Given the description of an element on the screen output the (x, y) to click on. 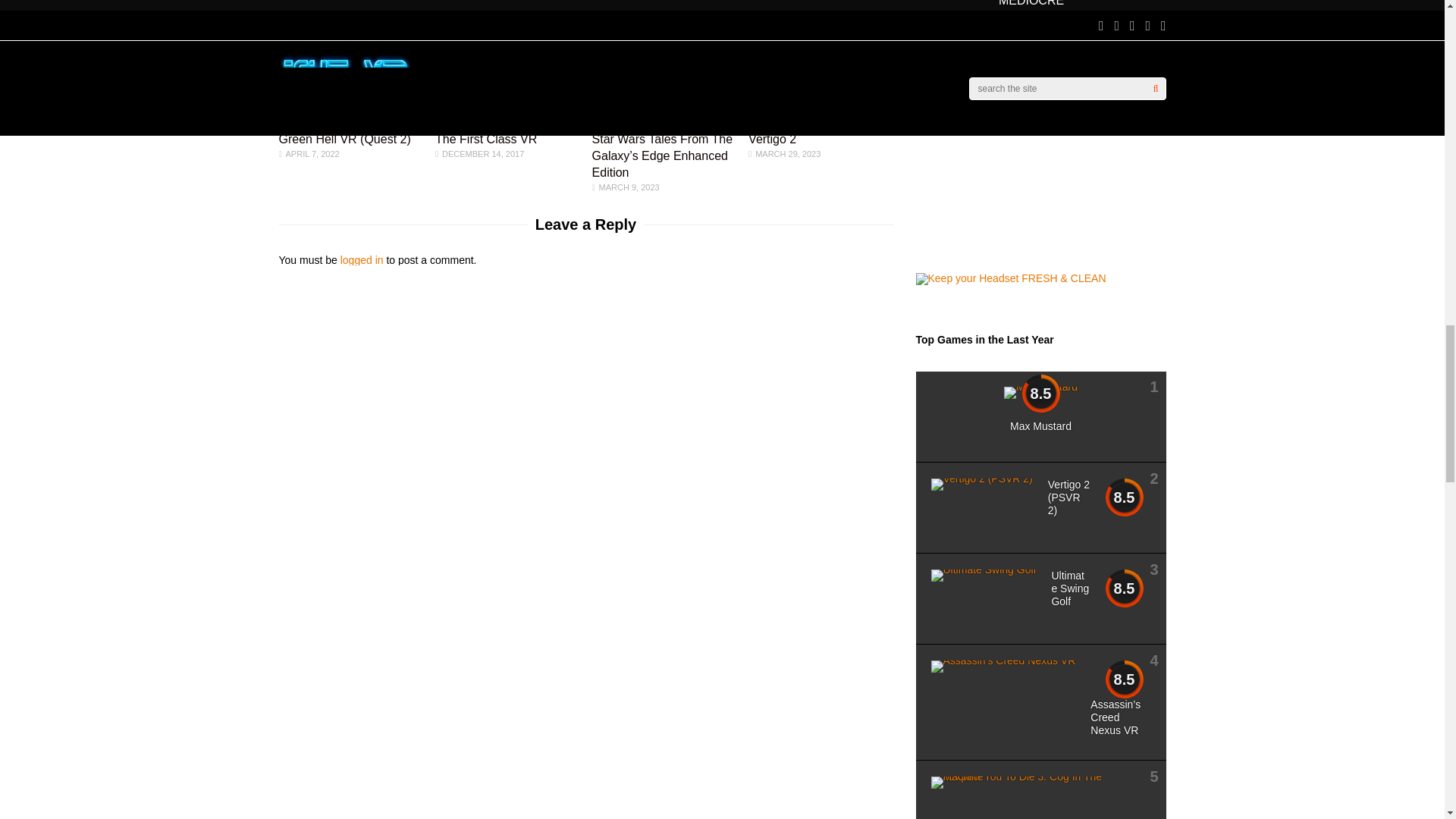
Vertigo 2 (772, 138)
The First Class VR (486, 138)
The First Class VR (485, 105)
The First Class VR (486, 138)
Vertigo 2 (775, 105)
